Given the description of an element on the screen output the (x, y) to click on. 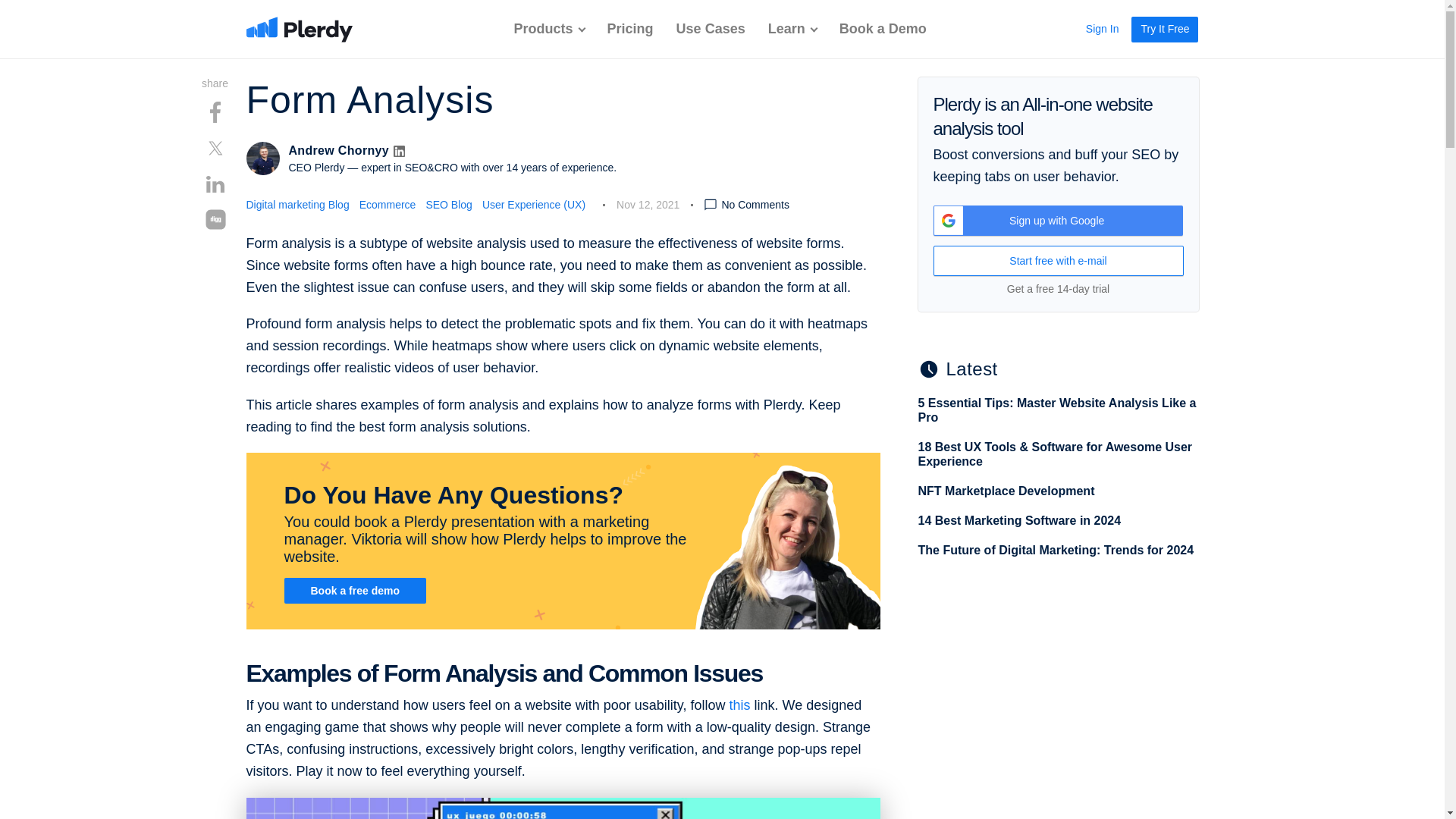
All-in-One Conversion Rate Optimization Platform (299, 29)
Learn (792, 29)
Use Cases (711, 29)
Pricing (630, 29)
Products (549, 29)
